Given the description of an element on the screen output the (x, y) to click on. 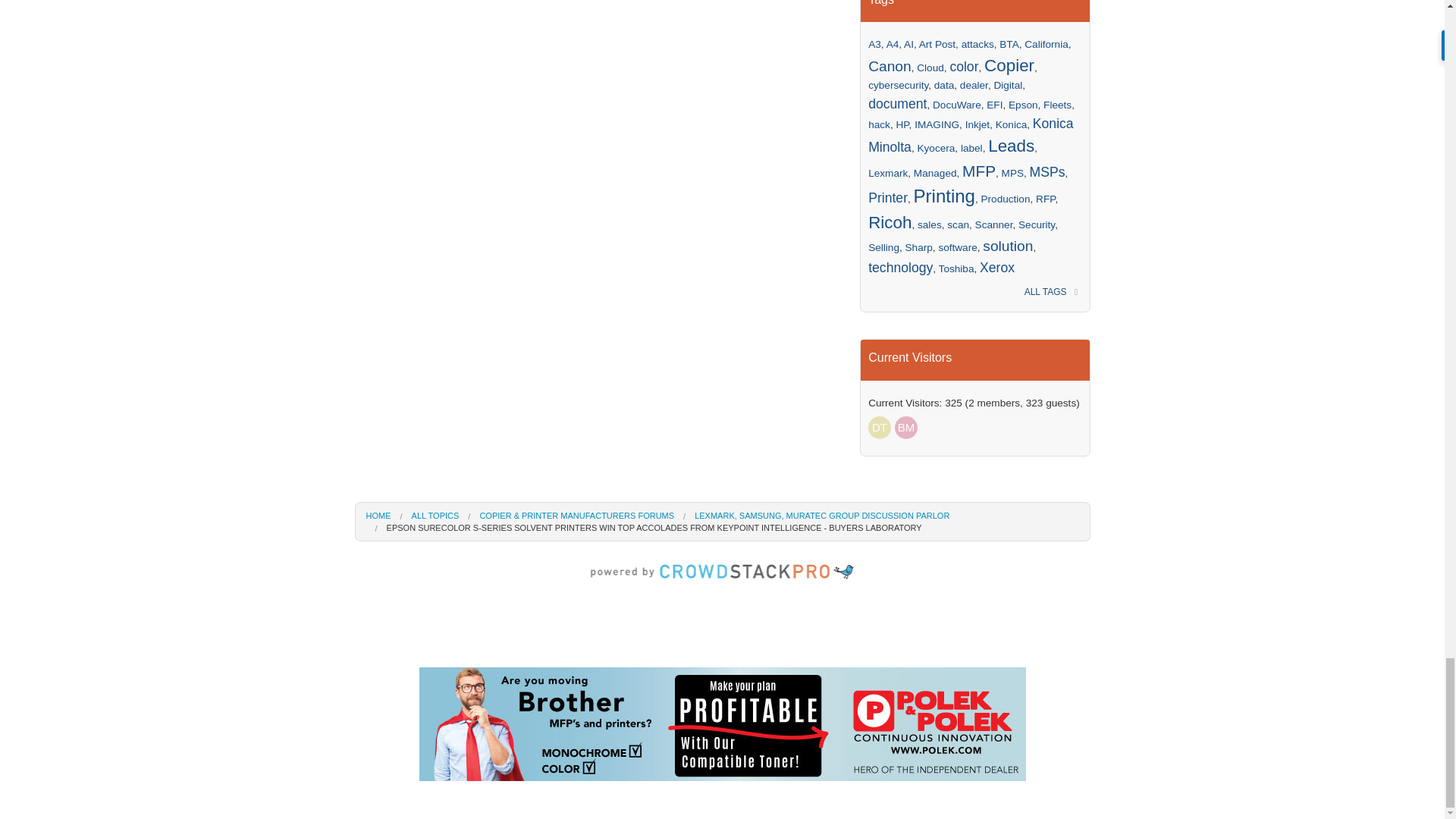
DT (879, 427)
BM (906, 427)
